Given the description of an element on the screen output the (x, y) to click on. 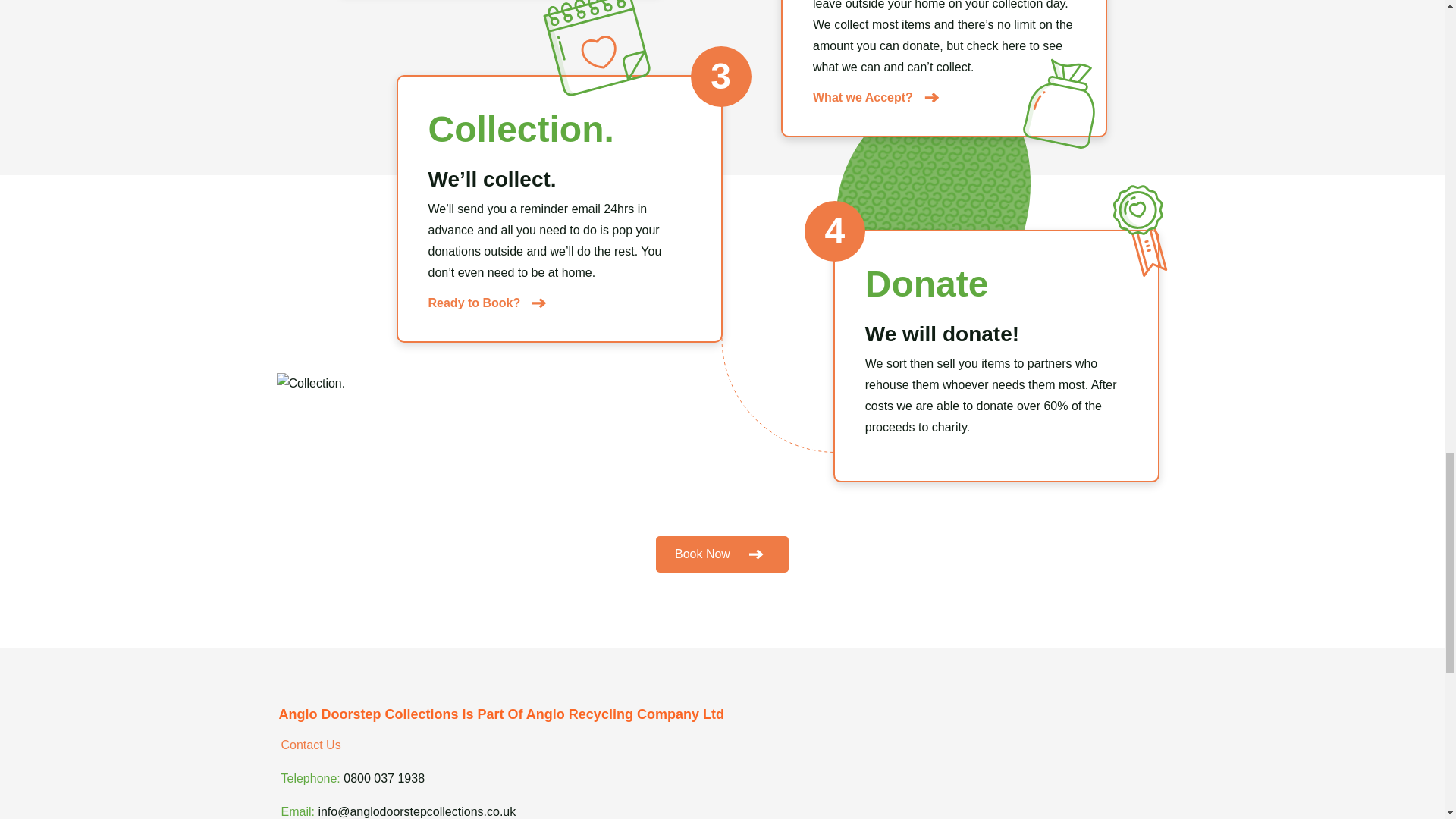
Book Now (722, 554)
What we Accept? (875, 97)
Ready to Book? (487, 303)
0800 037 1938 (384, 778)
